Given the description of an element on the screen output the (x, y) to click on. 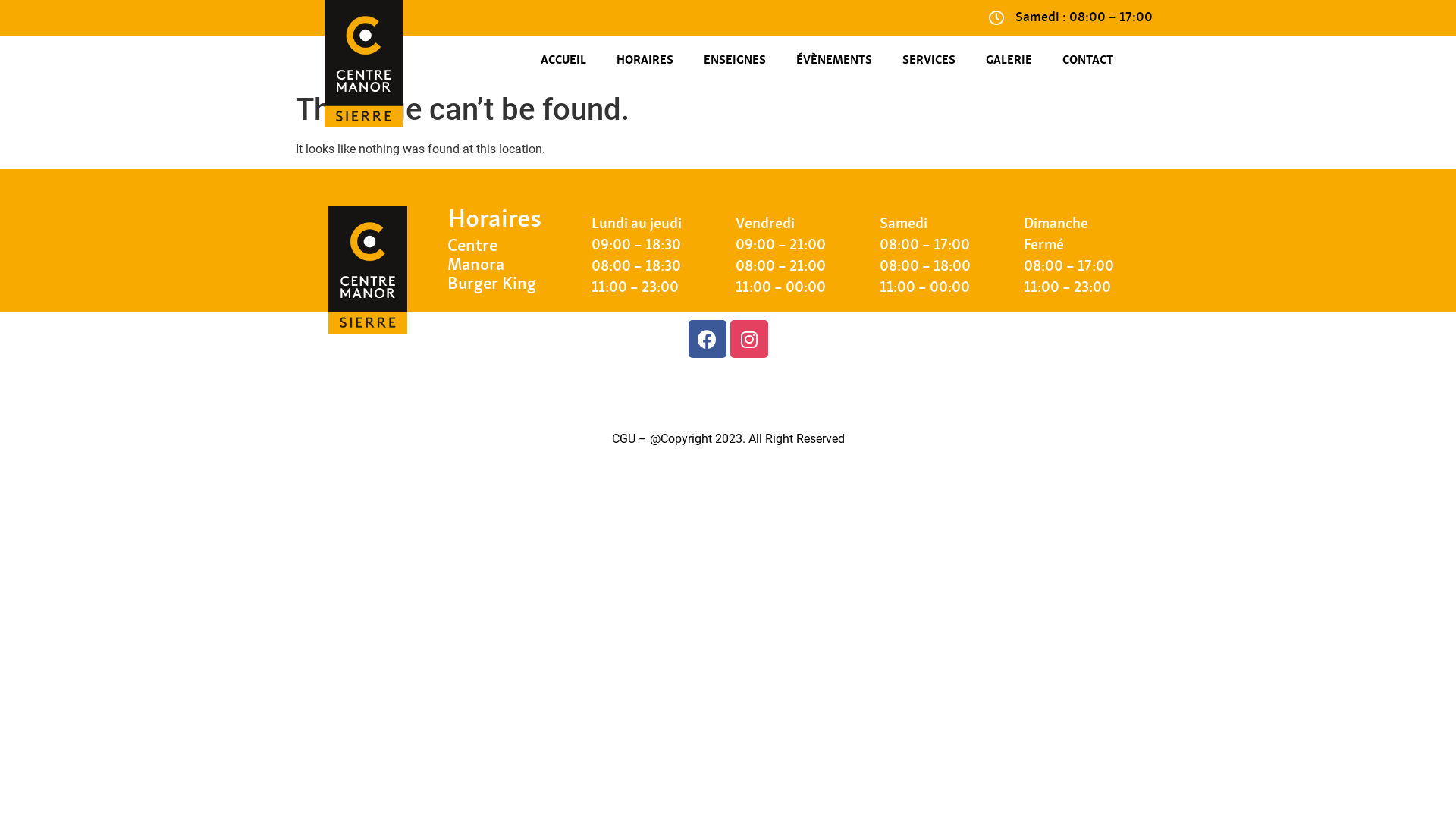
ACCUEIL Element type: text (563, 60)
ENSEIGNES Element type: text (734, 60)
CGU Element type: text (622, 438)
SERVICES Element type: text (928, 60)
HORAIRES Element type: text (644, 60)
CONTACT Element type: text (1087, 60)
GALERIE Element type: text (1008, 60)
